Given the description of an element on the screen output the (x, y) to click on. 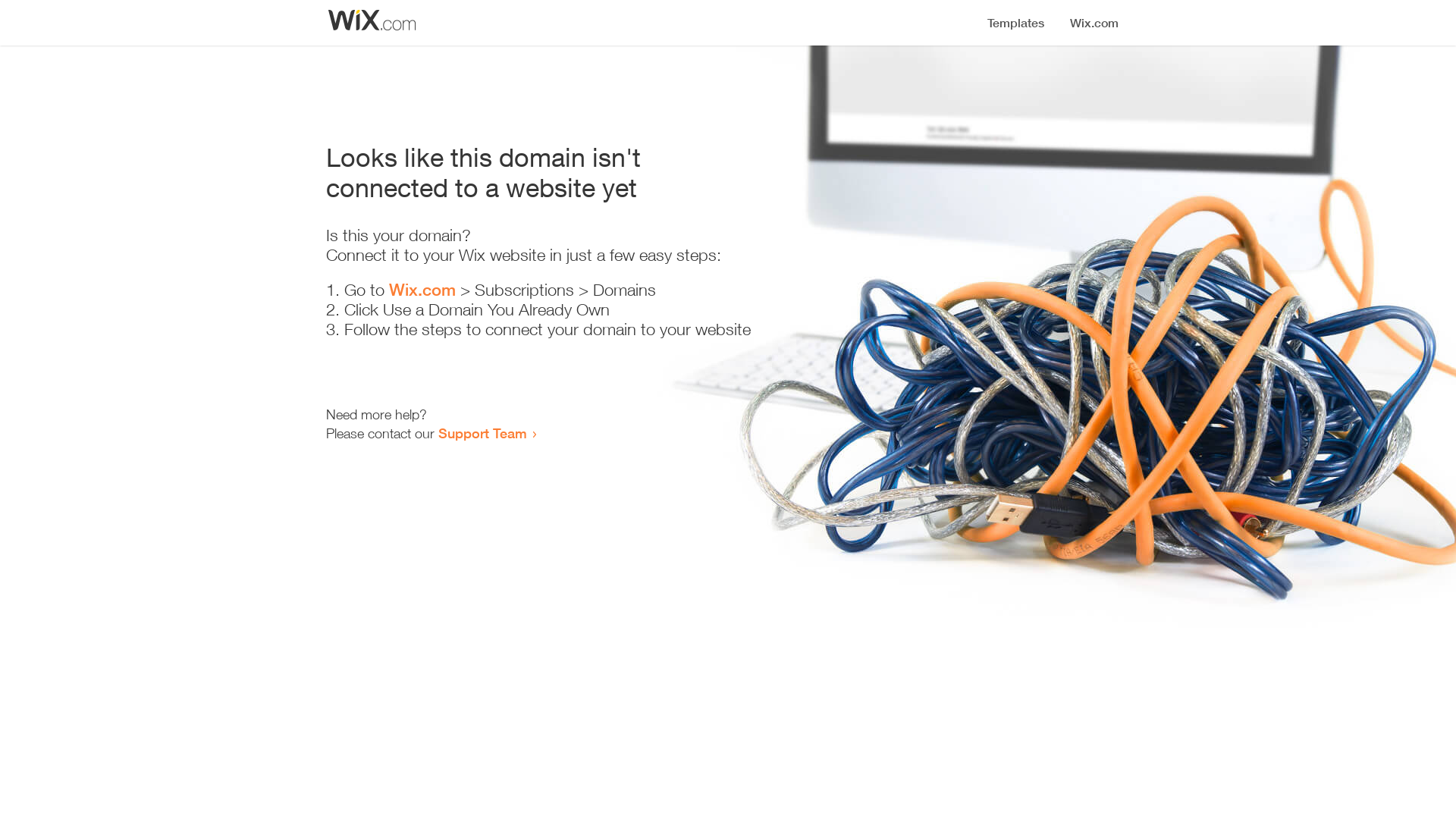
Support Team Element type: text (482, 432)
Wix.com Element type: text (422, 289)
